Given the description of an element on the screen output the (x, y) to click on. 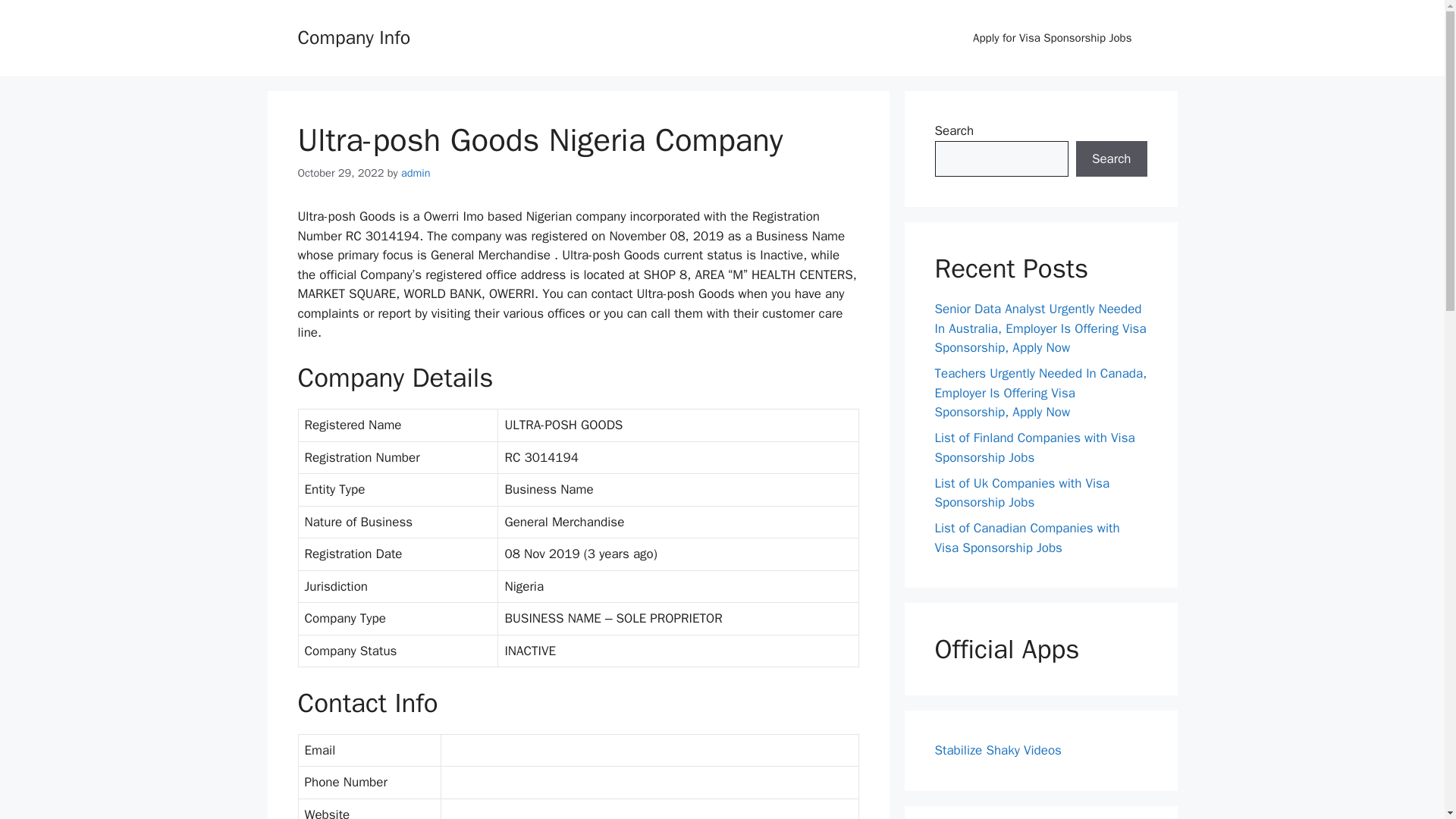
List of Uk Companies with Visa Sponsorship Jobs (1021, 492)
Search (1111, 158)
List of Finland Companies with Visa Sponsorship Jobs (1034, 447)
List of Canadian Companies with Visa Sponsorship Jobs (1026, 538)
admin (415, 172)
Apply for Visa Sponsorship Jobs (1052, 37)
Company Info (353, 37)
Stabilize Shaky Videos (997, 750)
